Given the description of an element on the screen output the (x, y) to click on. 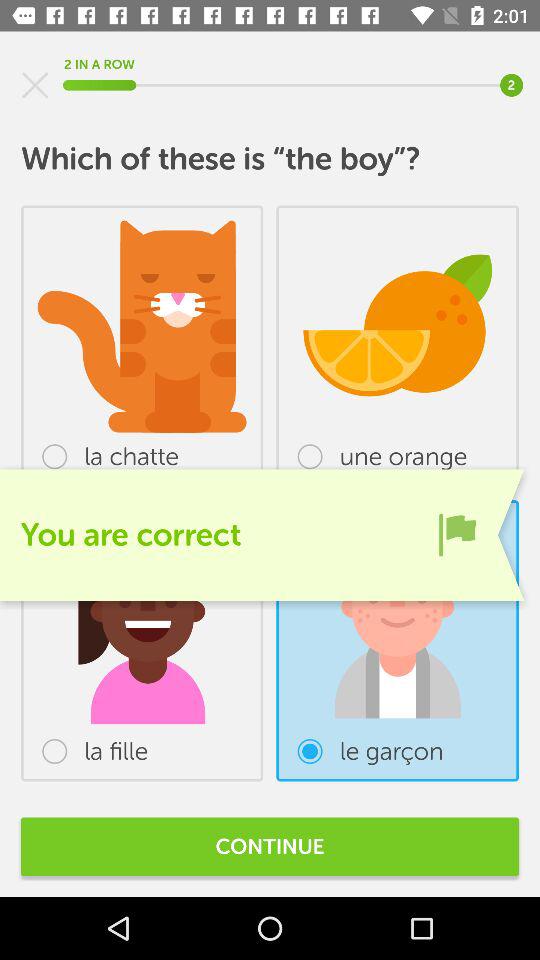
flip until the continue (270, 846)
